Given the description of an element on the screen output the (x, y) to click on. 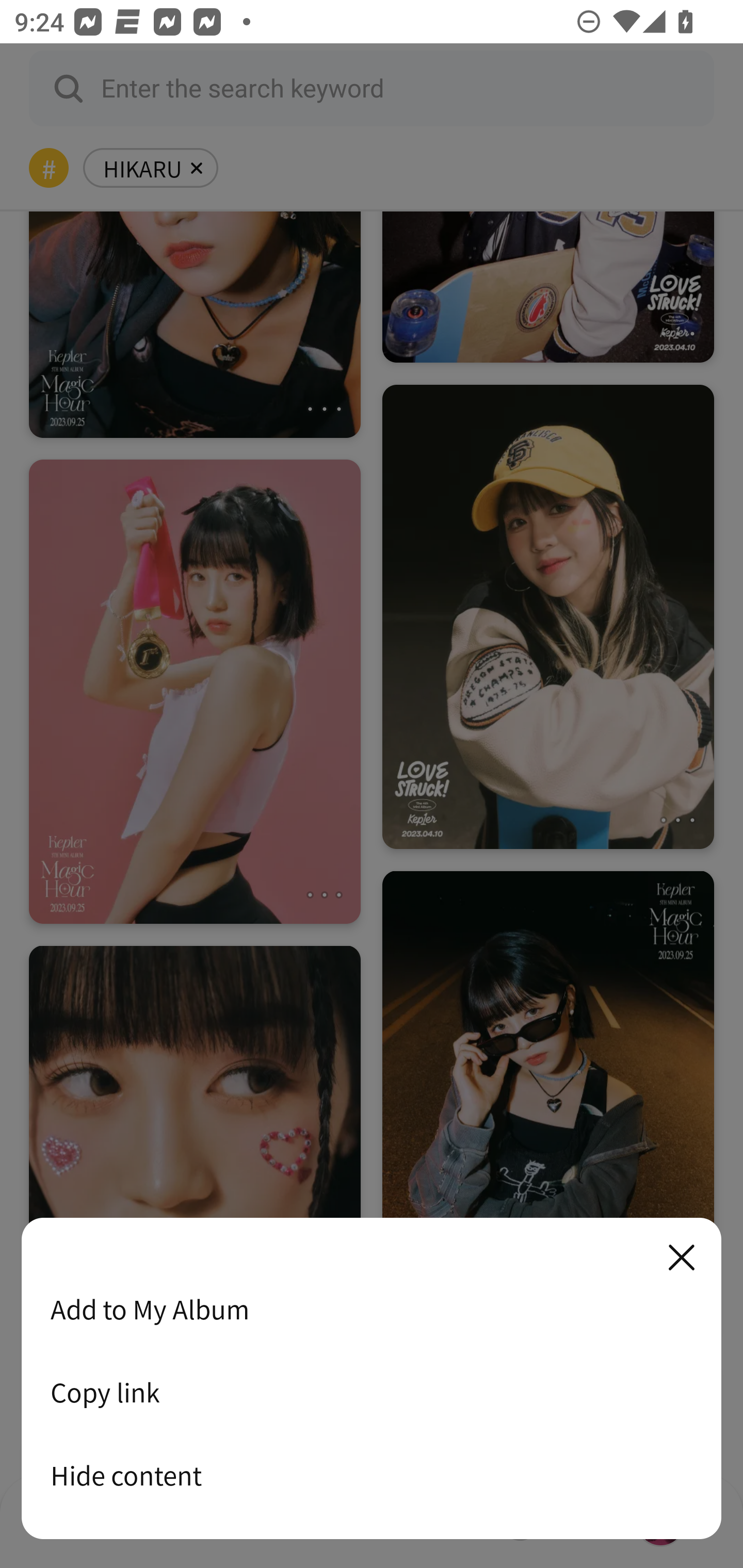
Add to My Album Copy link Hide content (371, 1378)
Add to My Album (371, 1308)
Copy link (371, 1391)
Hide content (371, 1474)
